Given the description of an element on the screen output the (x, y) to click on. 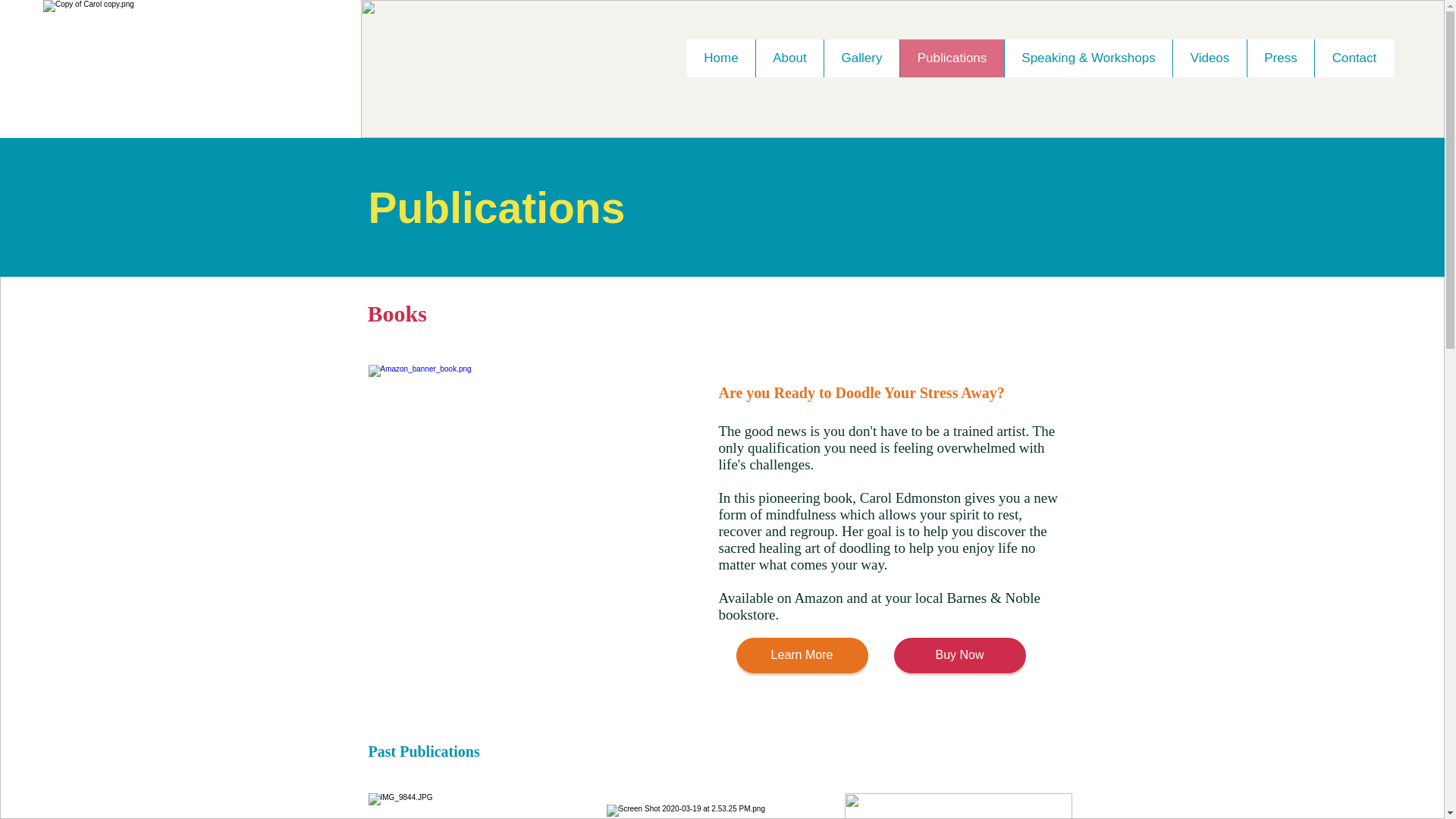
Learn More (801, 655)
Contact (1353, 57)
Videos (1209, 57)
Screen Shot 2020-03-14 at 5.03.33 PM.png (525, 522)
Press (1280, 57)
Buy Now (959, 655)
Gallery (861, 57)
Home (721, 57)
About (789, 57)
Publications (951, 57)
